Given the description of an element on the screen output the (x, y) to click on. 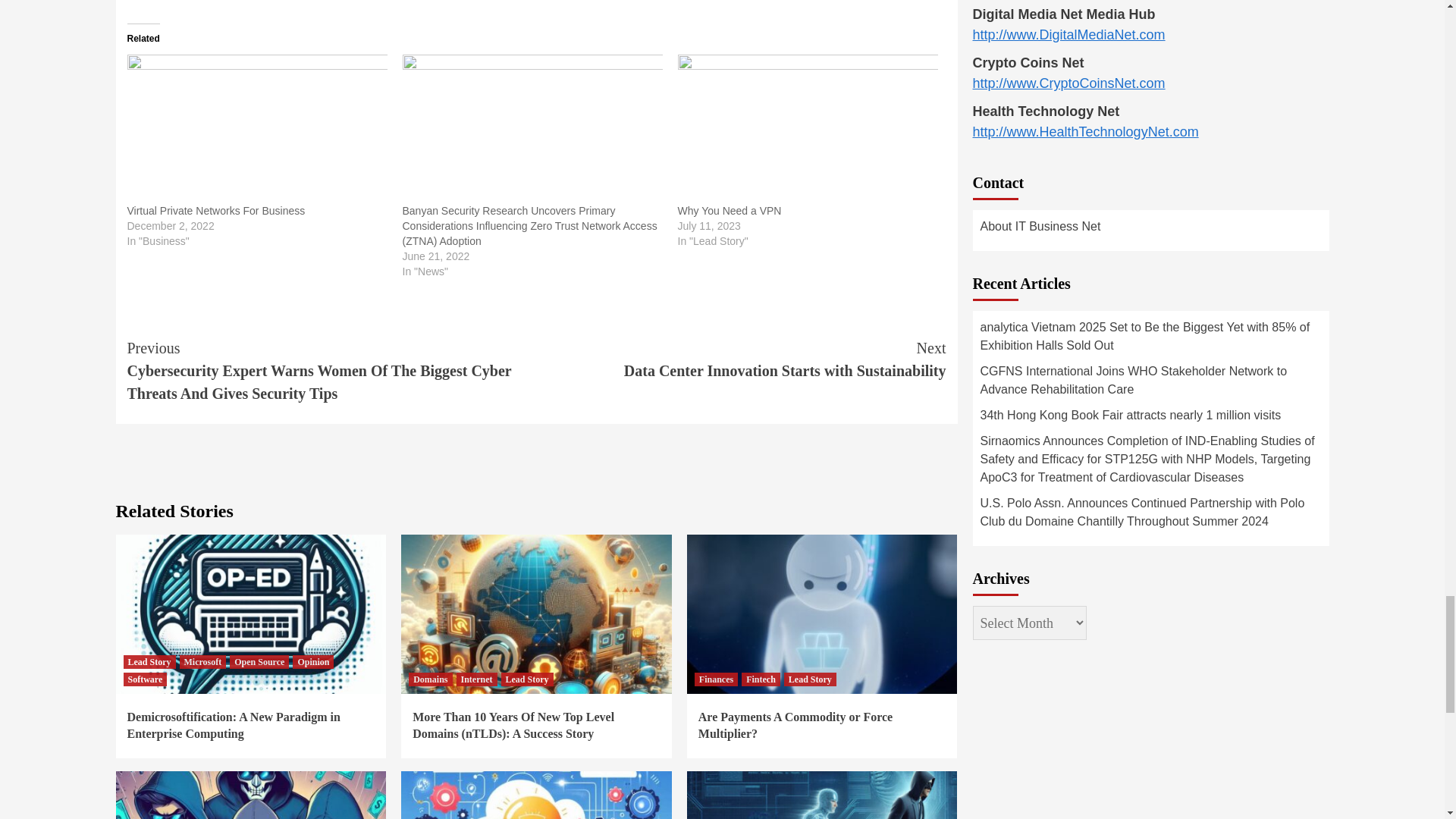
Why You Need a VPN (729, 210)
Virtual Private Networks For Business (216, 210)
